Given the description of an element on the screen output the (x, y) to click on. 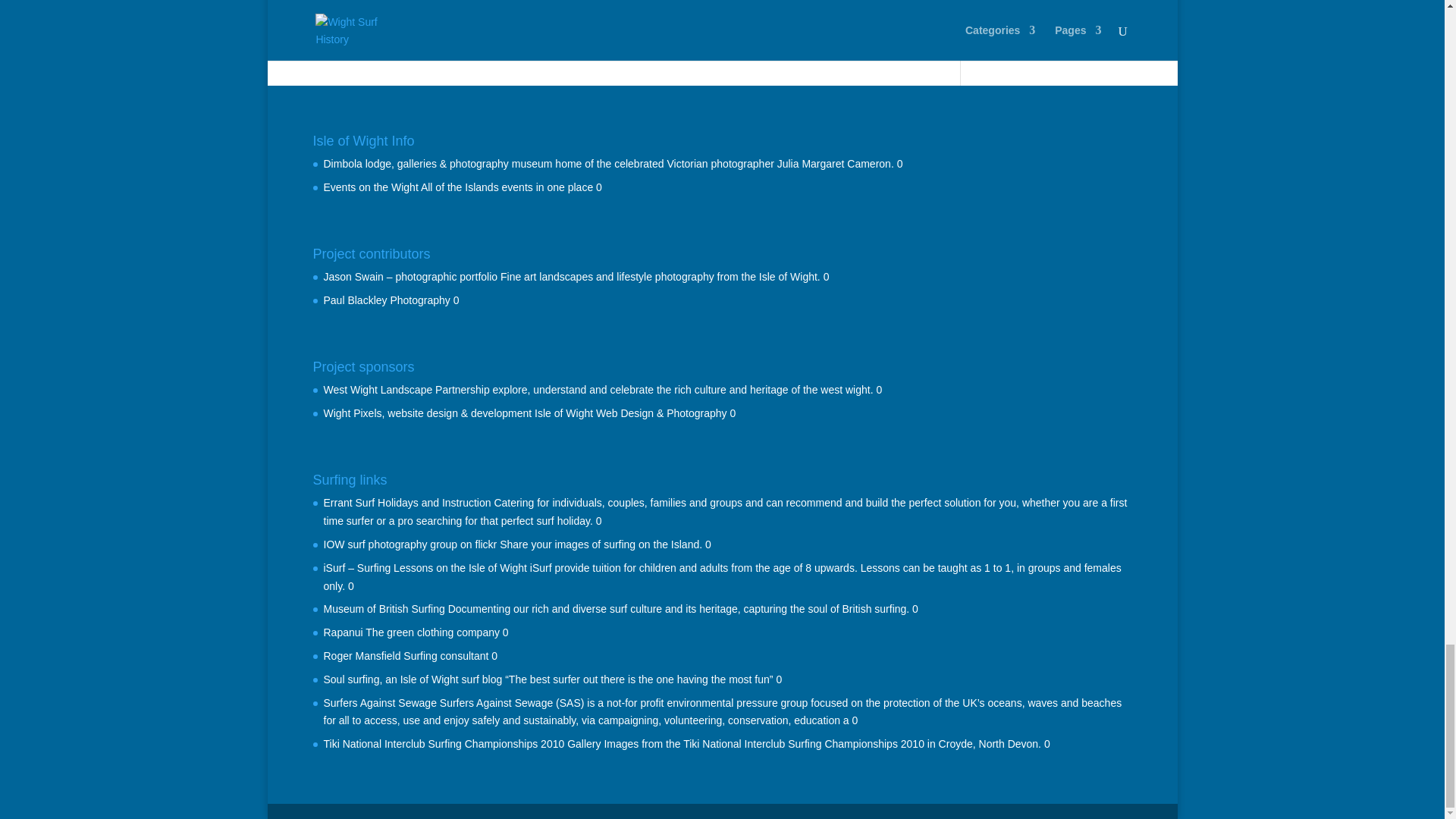
Surfing consultant (361, 655)
All of the Islands events in one place (370, 186)
Share your images of surfing on the Island. (409, 544)
The green clothing company (342, 632)
